Given the description of an element on the screen output the (x, y) to click on. 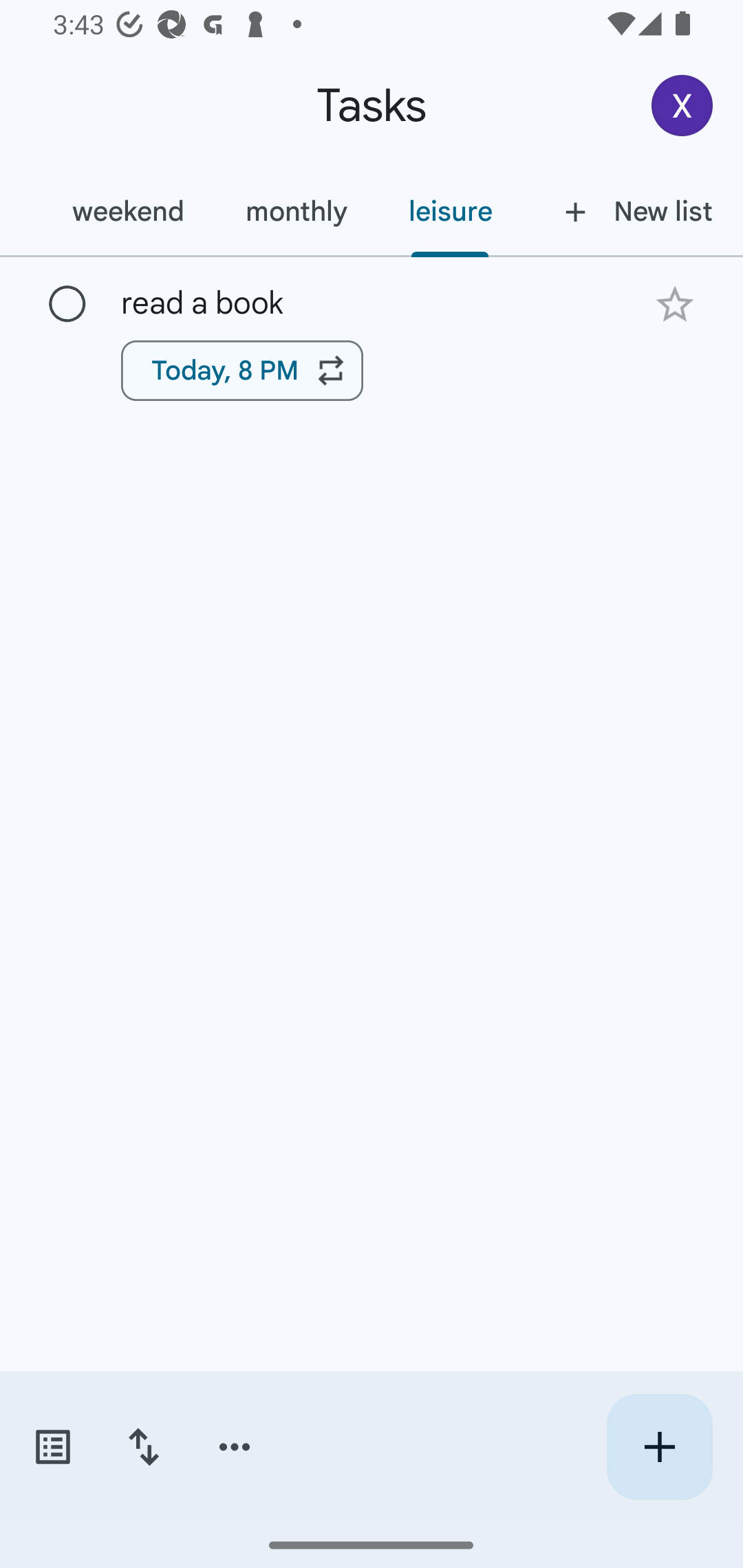
weekend (127, 211)
monthly (295, 211)
New list (632, 211)
Add star (674, 303)
Mark as complete (67, 304)
Today, 8 PM (242, 369)
Switch task lists (52, 1447)
Create new task (659, 1446)
Change sort order (143, 1446)
More options (234, 1446)
